Given the description of an element on the screen output the (x, y) to click on. 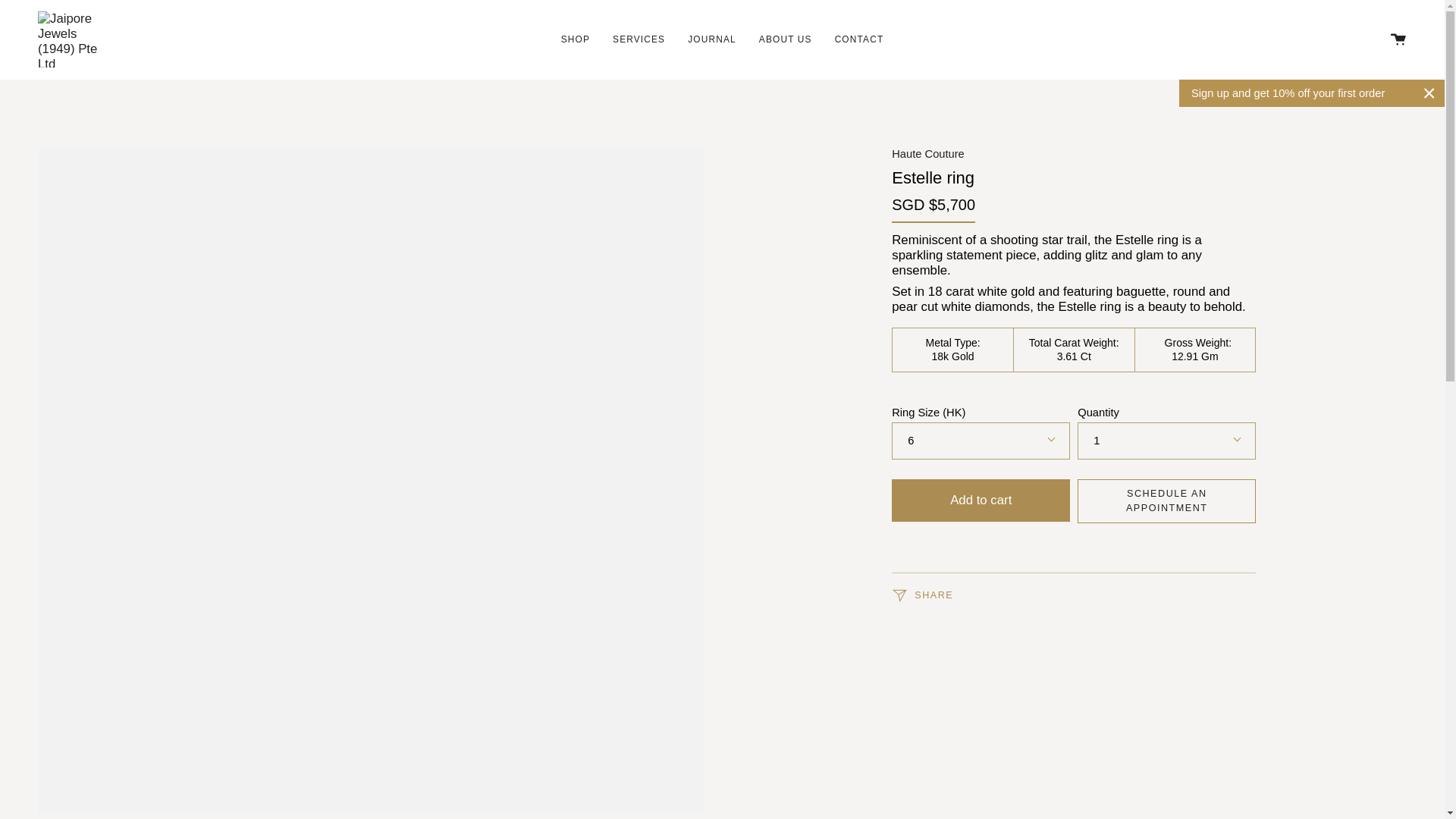
Cart (1397, 39)
CONTACT (859, 39)
Cart (1397, 39)
SERVICES (639, 39)
SHOP (575, 39)
Close (1429, 92)
JOURNAL (712, 39)
ABOUT US (786, 39)
